Given the description of an element on the screen output the (x, y) to click on. 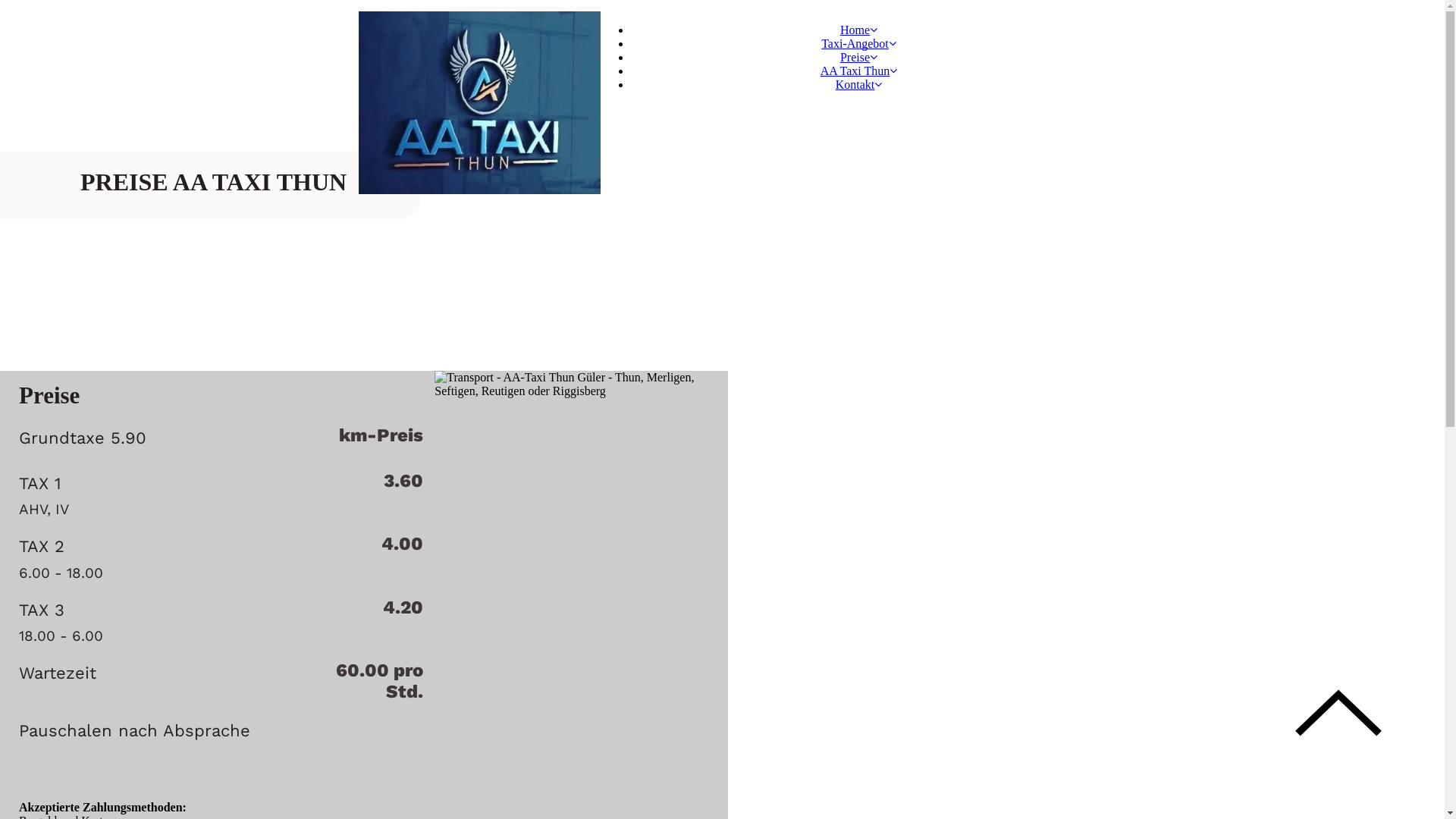
Kontakt Element type: text (858, 84)
AA Taxi Thun Element type: text (858, 70)
Preise Element type: text (858, 56)
Taxi-Angebot Element type: text (858, 43)
Home Element type: text (858, 29)
